Given the description of an element on the screen output the (x, y) to click on. 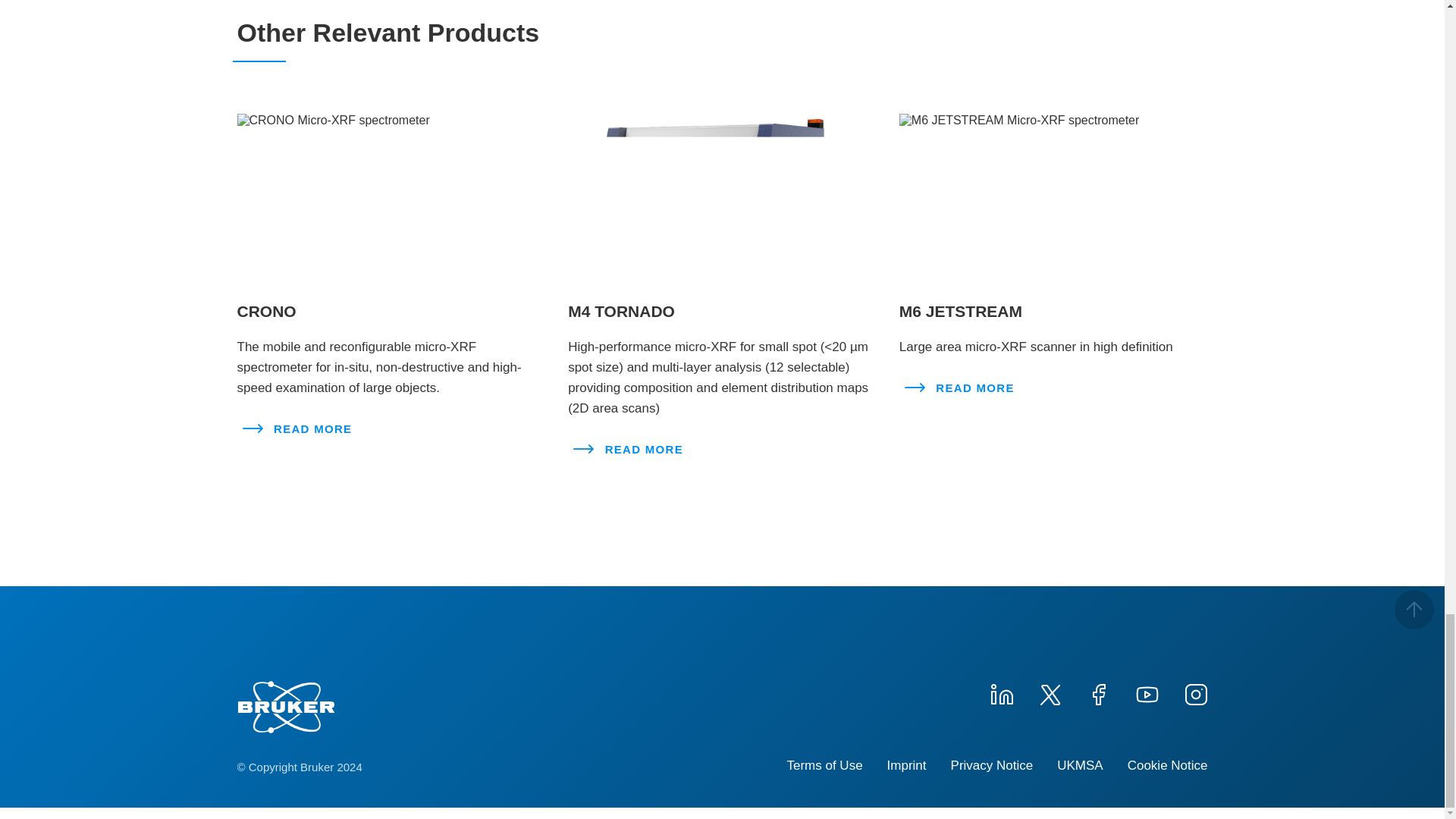
facebook (1097, 692)
youtube (1146, 692)
twitter (1048, 692)
linkedin (1000, 692)
instagram (1194, 692)
